Given the description of an element on the screen output the (x, y) to click on. 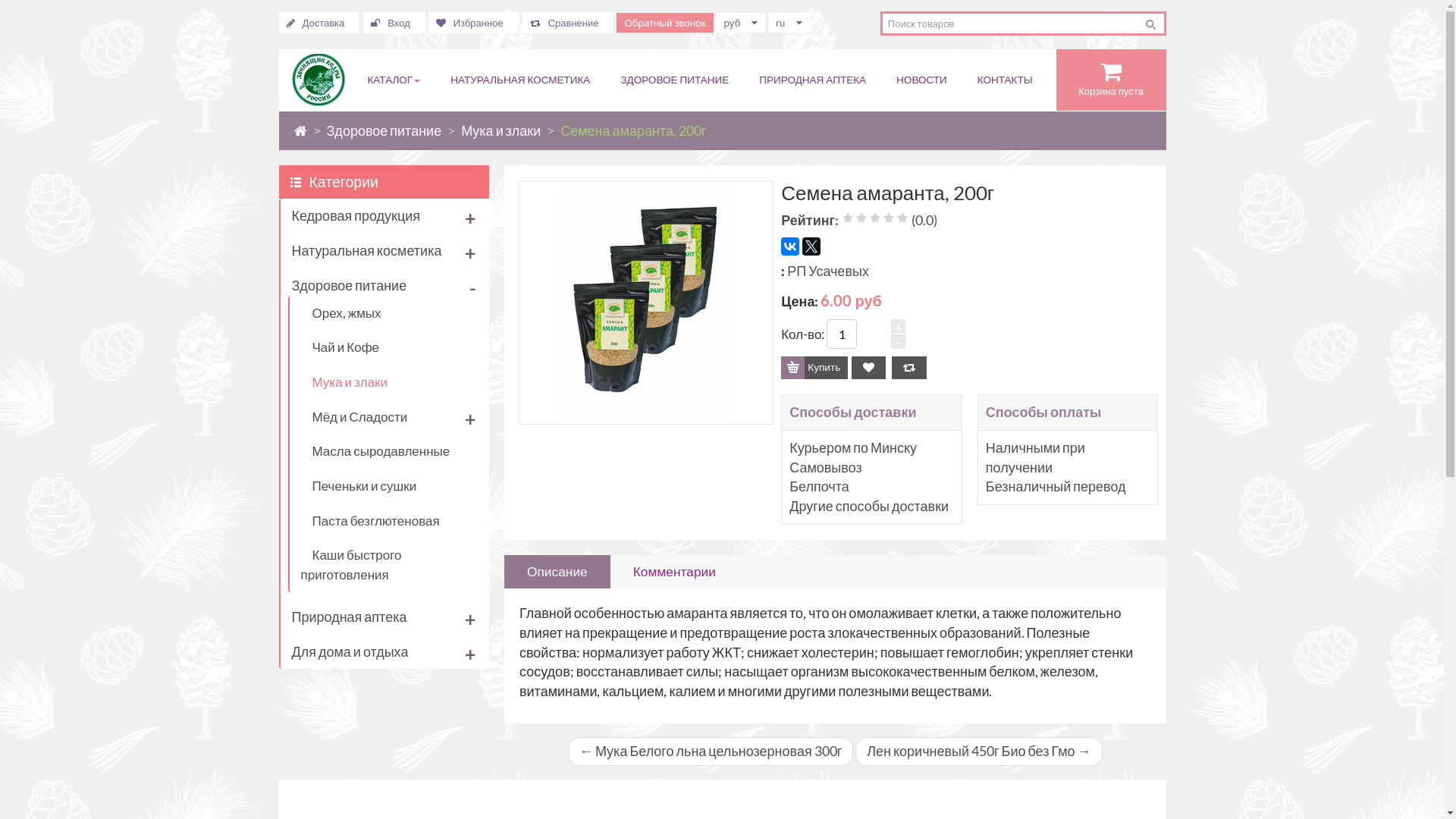
Twitter Element type: hover (811, 246)
ru     Element type: text (788, 22)
